Given the description of an element on the screen output the (x, y) to click on. 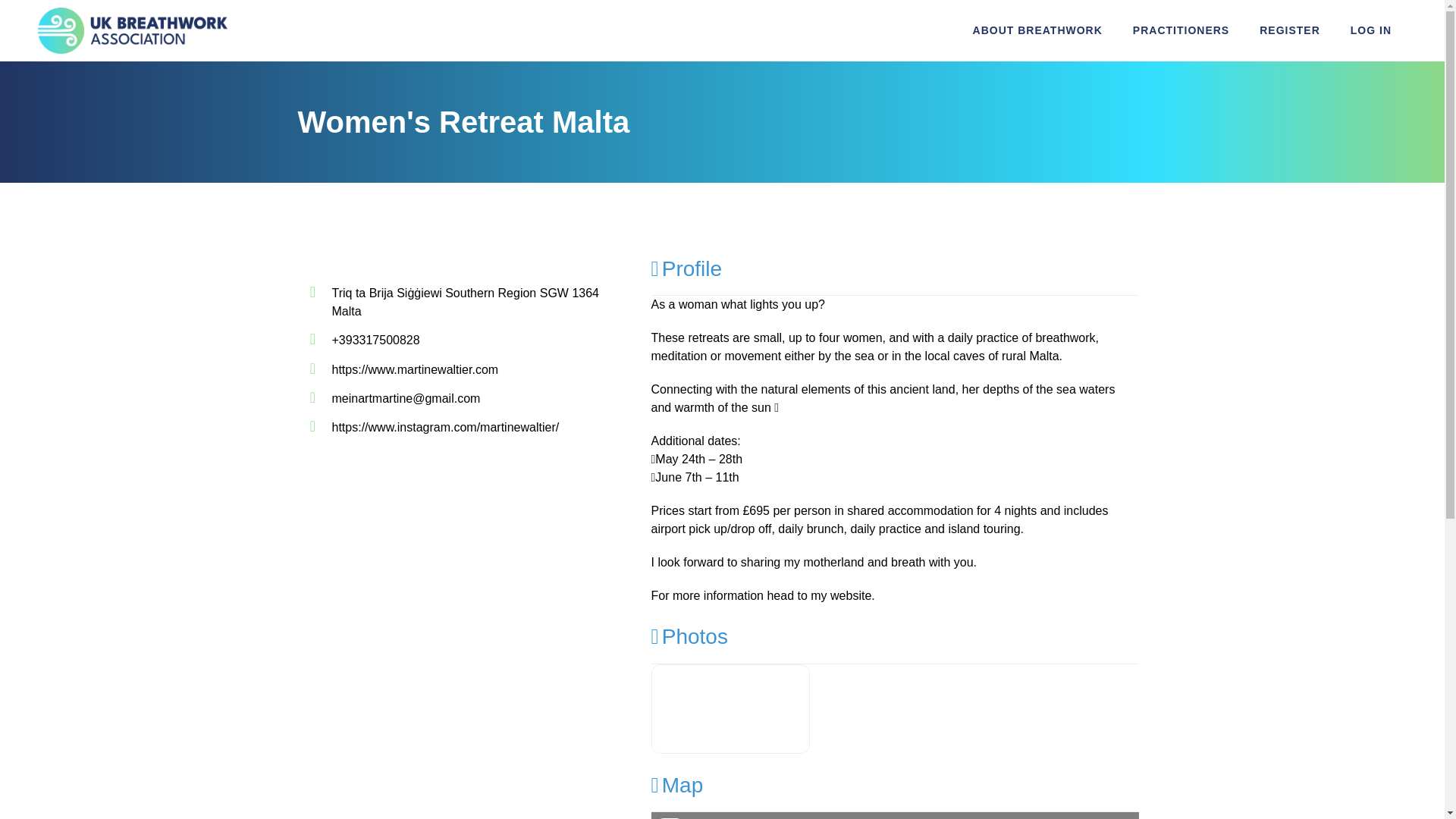
REGISTER (1289, 30)
ABOUT BREATHWORK (1038, 30)
Map (676, 784)
Photos (688, 636)
Profile (686, 268)
LOG IN (1370, 30)
PRACTITIONERS (1181, 30)
